Given the description of an element on the screen output the (x, y) to click on. 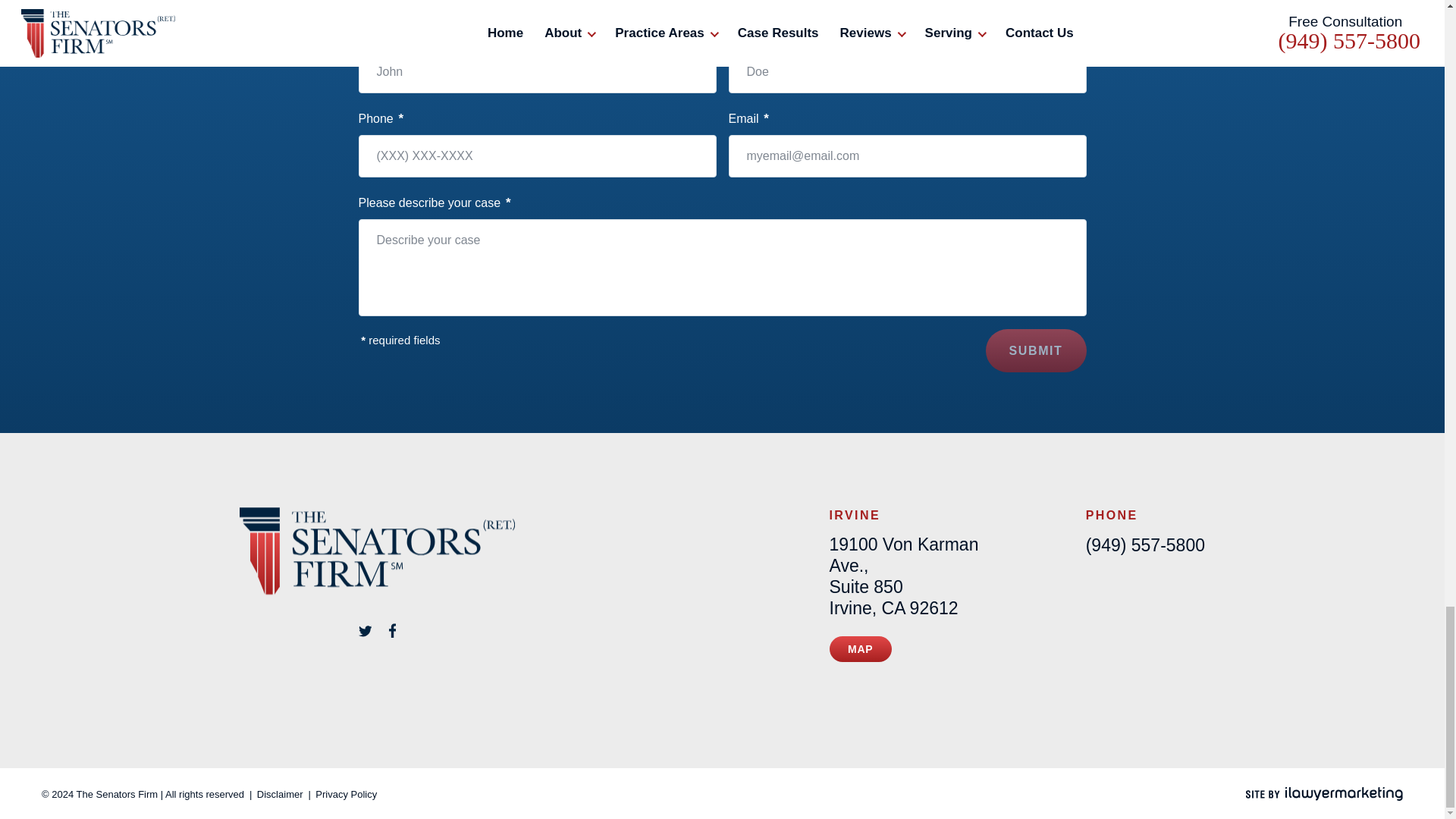
Phone (1145, 544)
Twitter (365, 630)
